Given the description of an element on the screen output the (x, y) to click on. 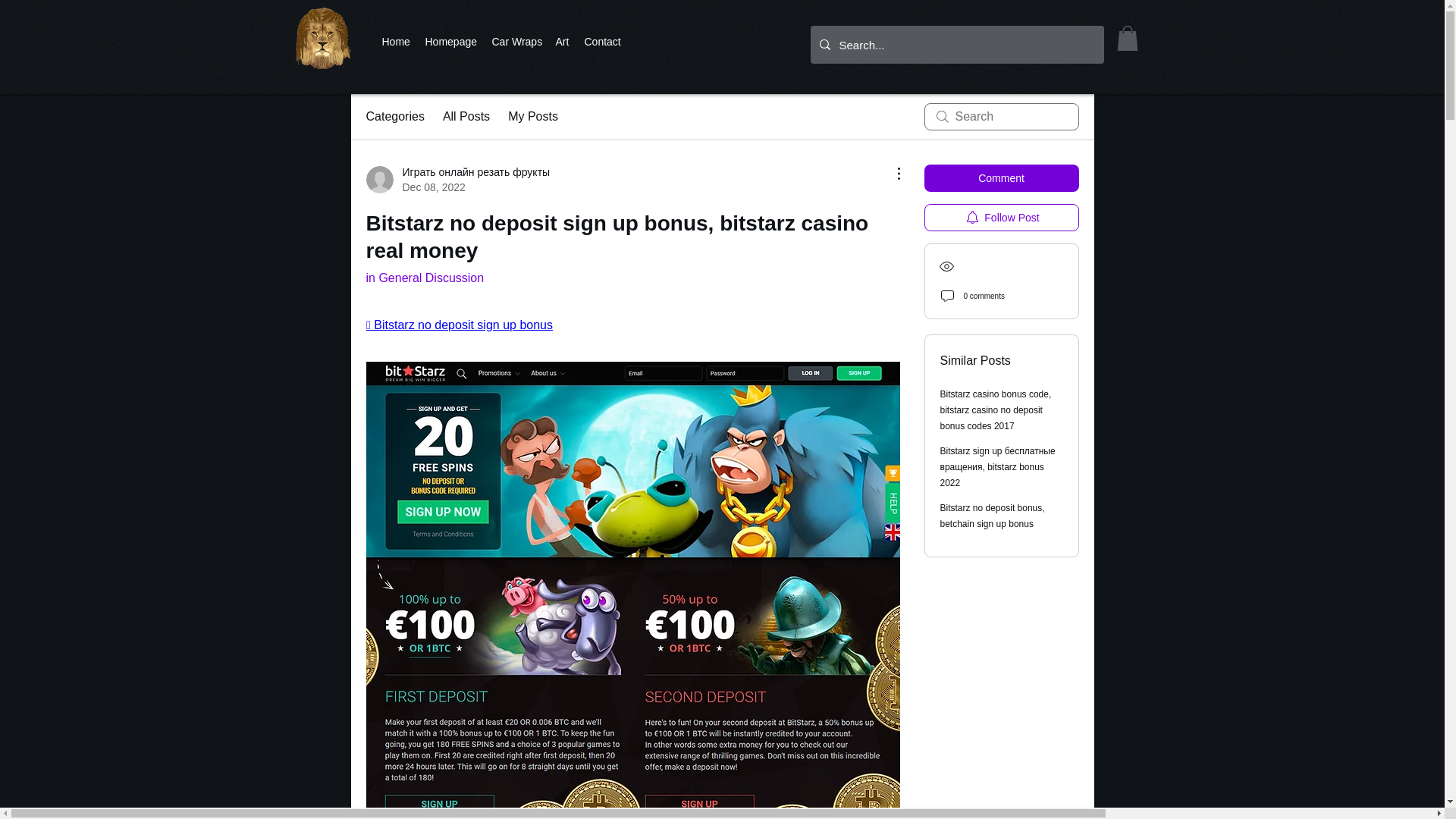
Car Wraps (515, 41)
Home (395, 41)
Contact (601, 41)
Art (561, 41)
Homepage (449, 41)
